Given the description of an element on the screen output the (x, y) to click on. 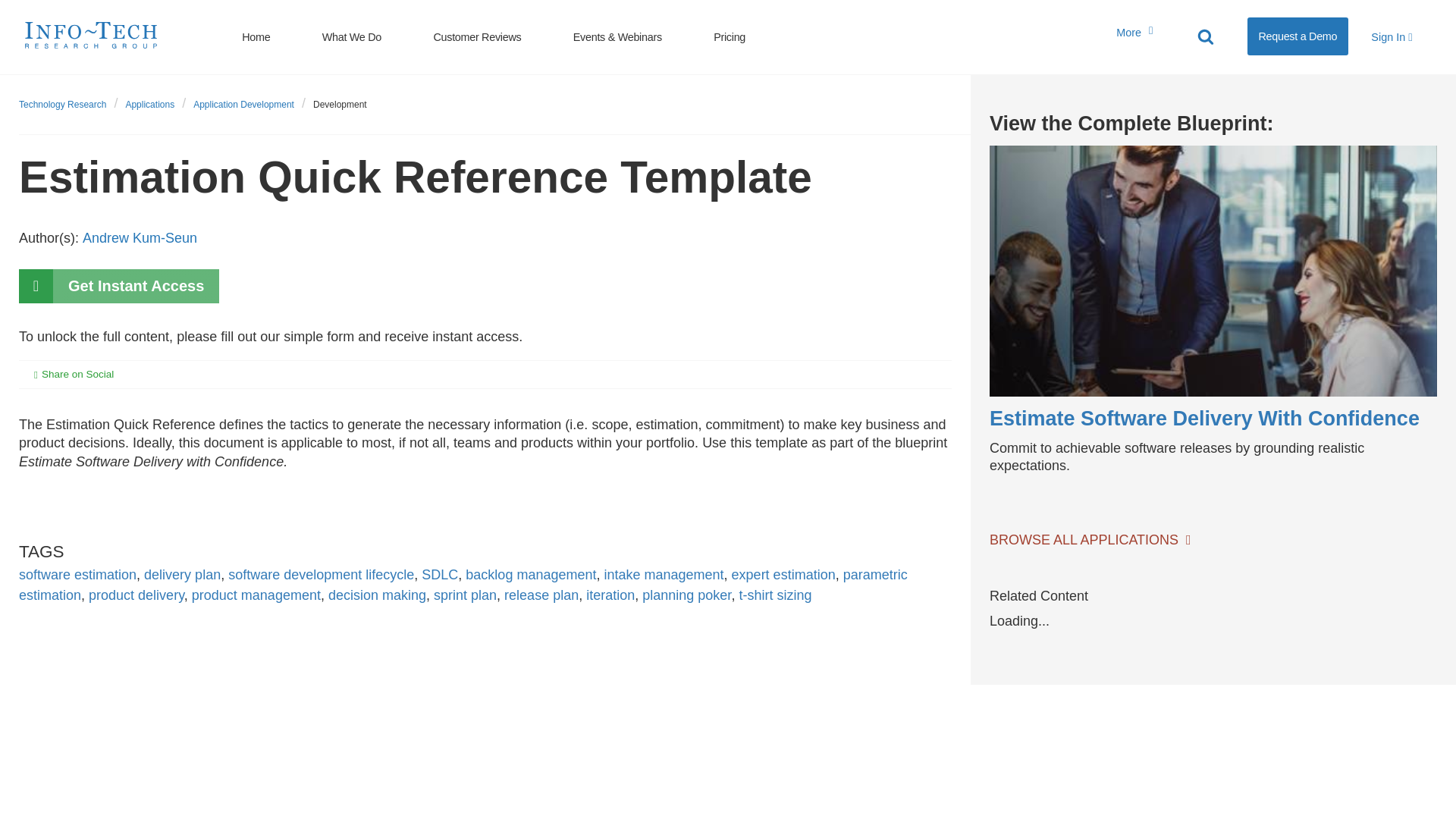
Sign In (1391, 37)
Request a Demo (1297, 36)
Development (339, 104)
Application Development (243, 104)
What We Do (352, 37)
Get Instant Access (118, 286)
Home (255, 37)
Technology Research (62, 104)
Info-Tech Research Group logo (90, 33)
Customer Reviews (477, 37)
